Given the description of an element on the screen output the (x, y) to click on. 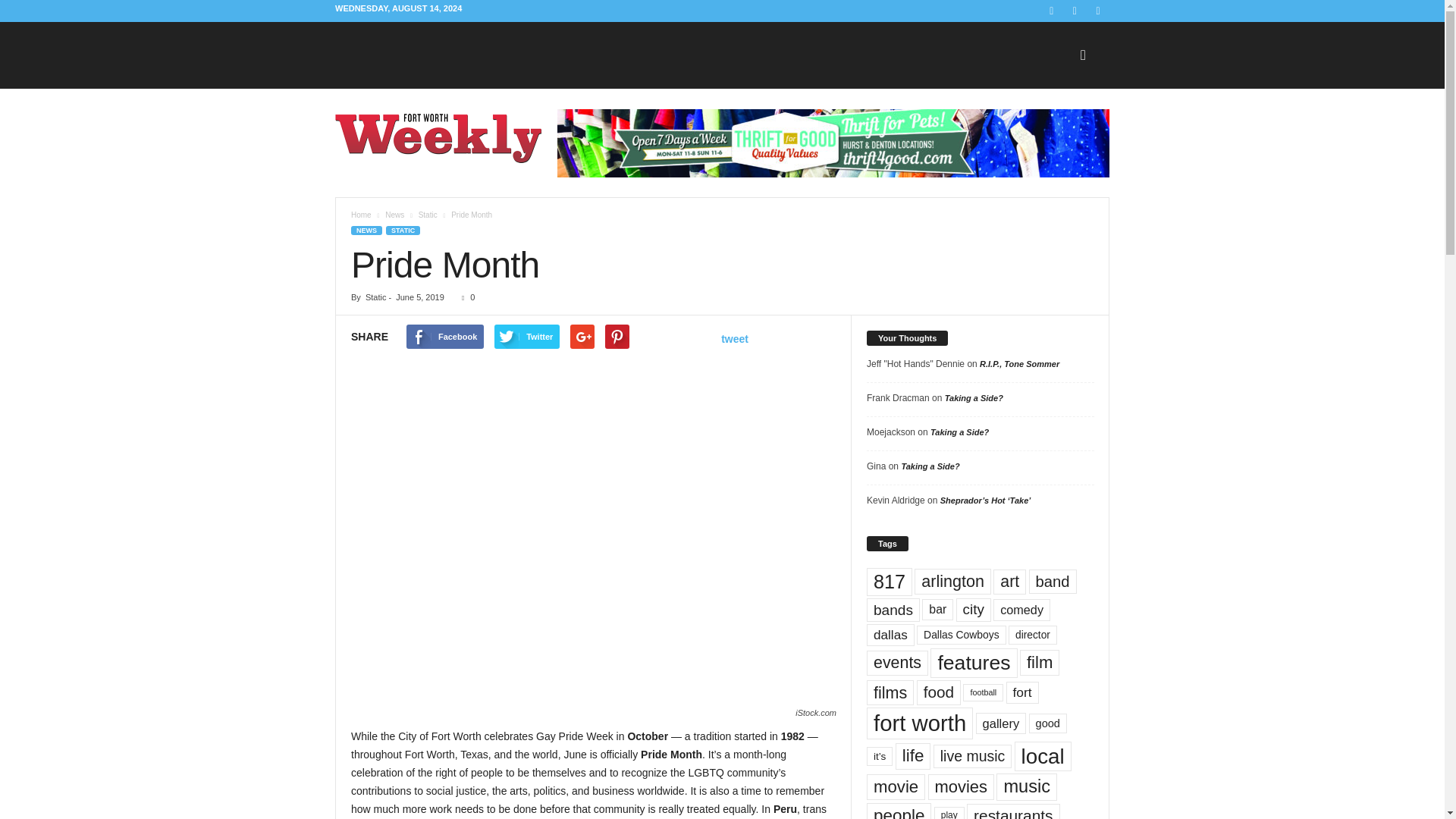
View all posts in Static (428, 214)
TFG Banner 728x90 (833, 142)
Fort Worth Weekly - What is Happening in Fort Worth (437, 137)
View all posts in News (394, 214)
